Given the description of an element on the screen output the (x, y) to click on. 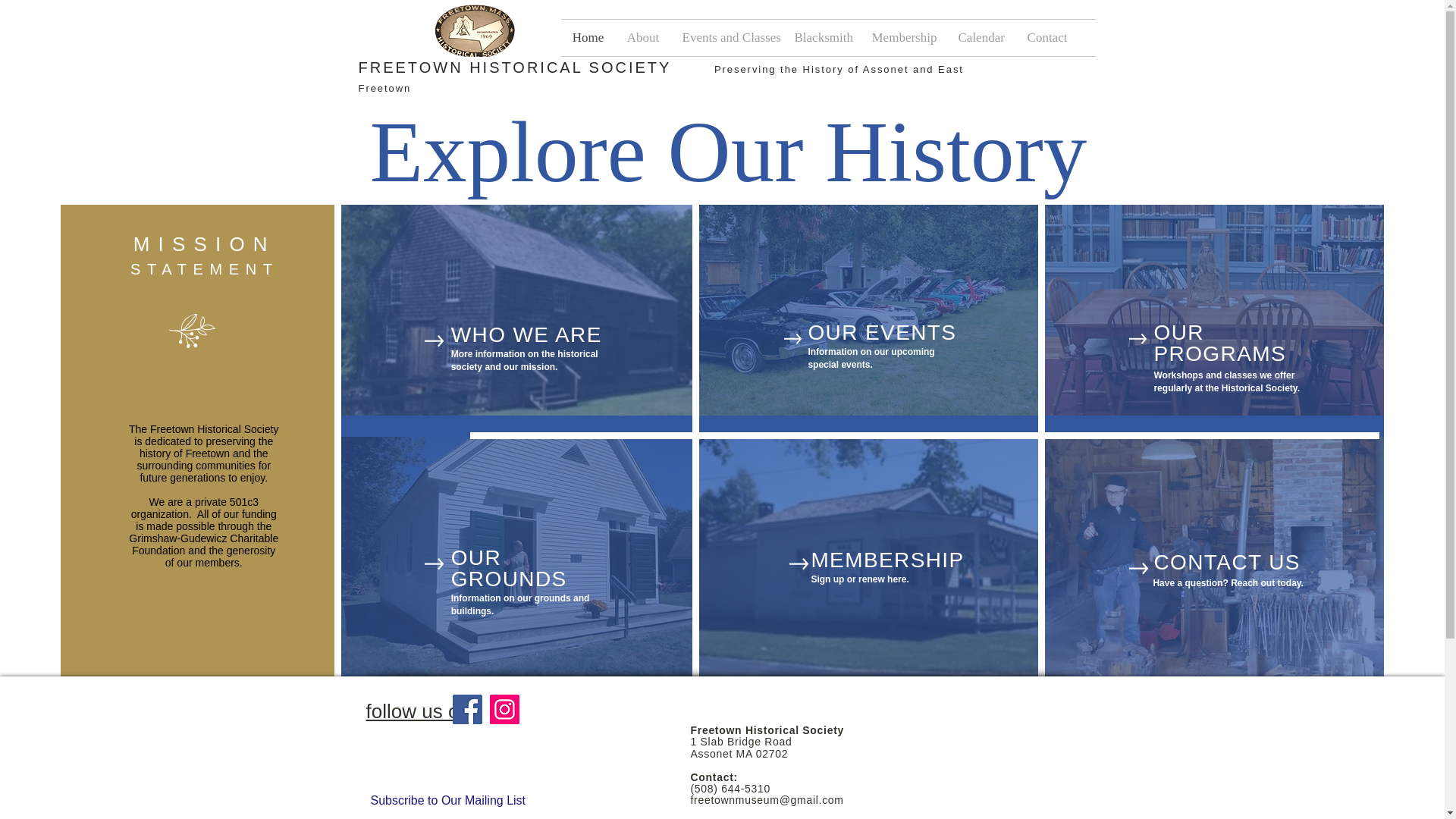
OUR EVENTS (882, 332)
Calendar (980, 37)
OUR GROUNDS (509, 568)
MEMBERSHIP (886, 559)
WHO WE ARE (526, 334)
Contact (1047, 37)
OUR PROGRAMS (1219, 343)
Membership (903, 37)
Events and Classes (726, 37)
Google Maps (980, 758)
